Given the description of an element on the screen output the (x, y) to click on. 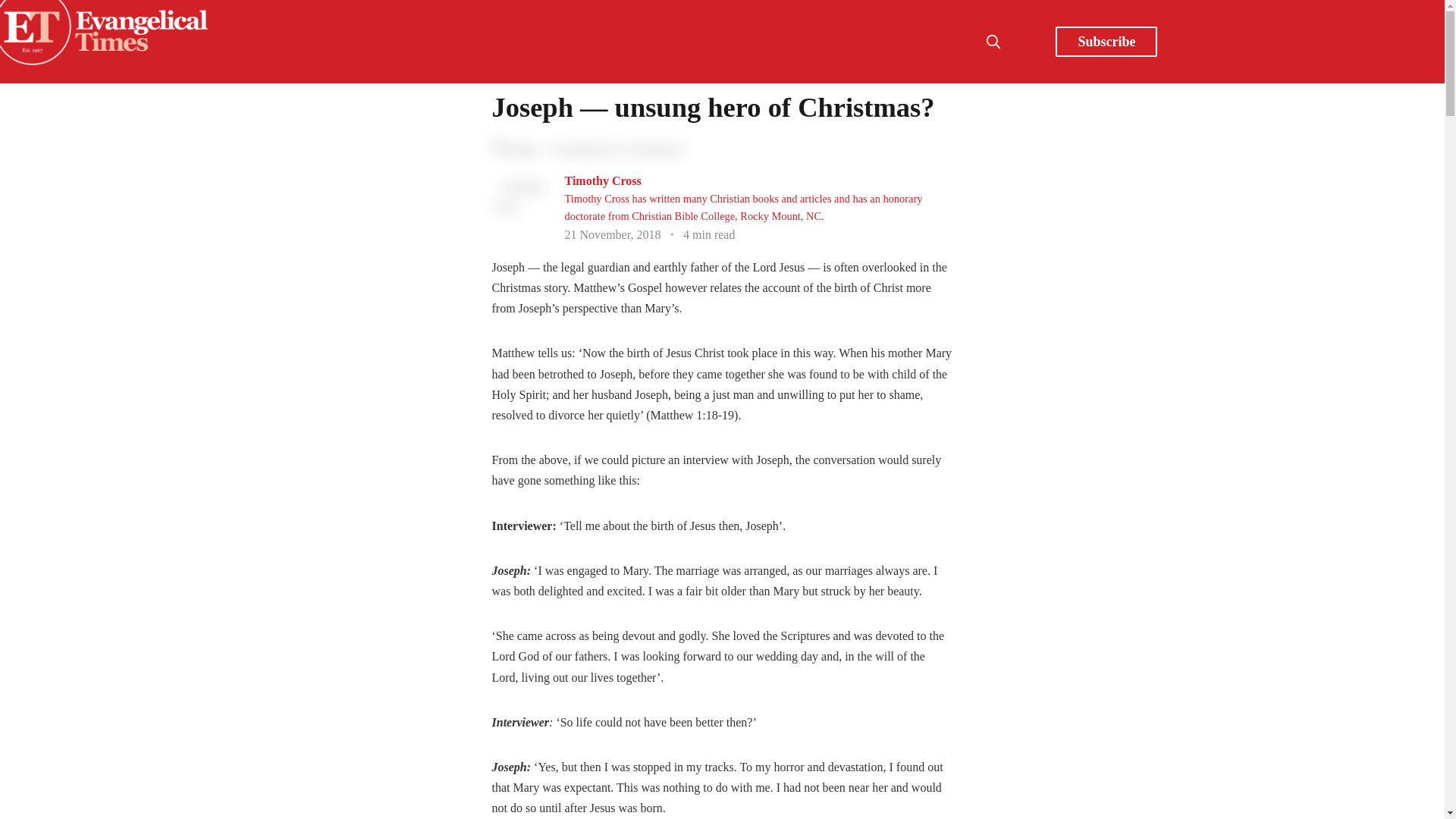
Timothy Cross (602, 180)
Open Menu (1026, 41)
Subscribe (1106, 41)
